Given the description of an element on the screen output the (x, y) to click on. 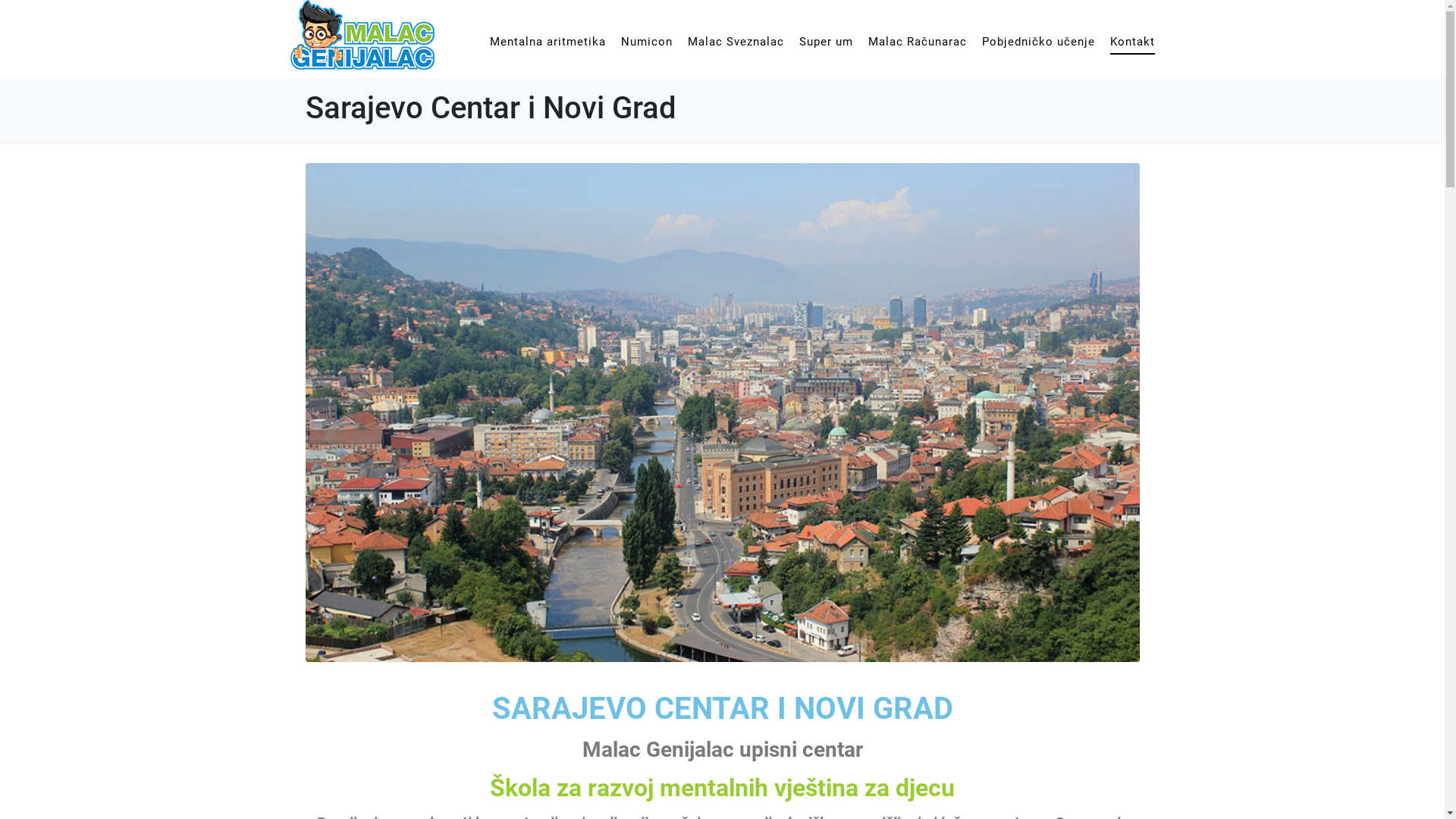
Mentalna aritmetika Element type: text (547, 41)
Numicon Element type: text (645, 41)
Malac Sveznalac Element type: text (735, 41)
Kontakt Element type: text (1132, 42)
Super um Element type: text (826, 41)
